Given the description of an element on the screen output the (x, y) to click on. 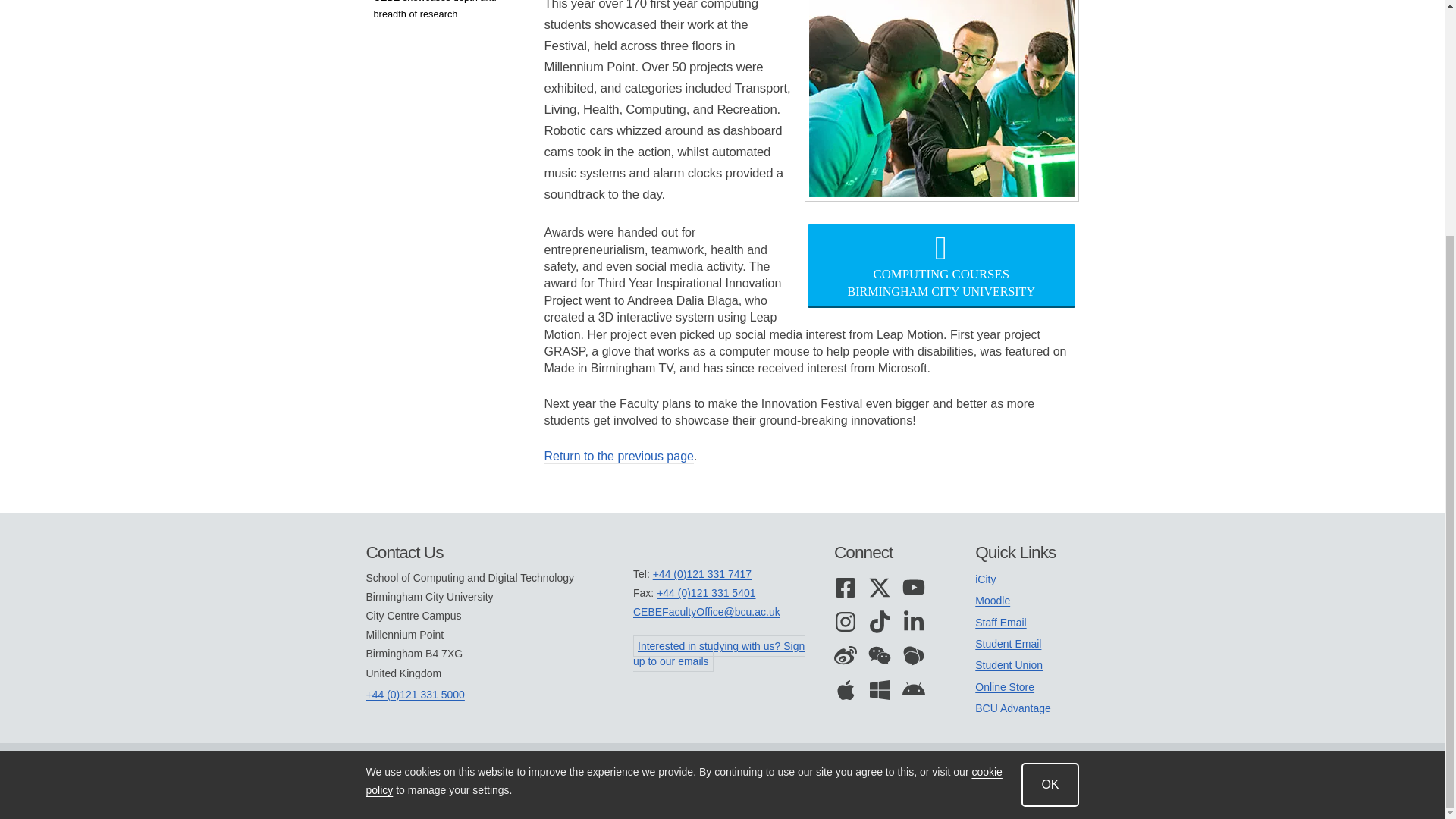
OK (1050, 463)
Quick Links (1026, 552)
cookie policy (683, 459)
Connect with us (889, 552)
Contact Us (499, 552)
